Given the description of an element on the screen output the (x, y) to click on. 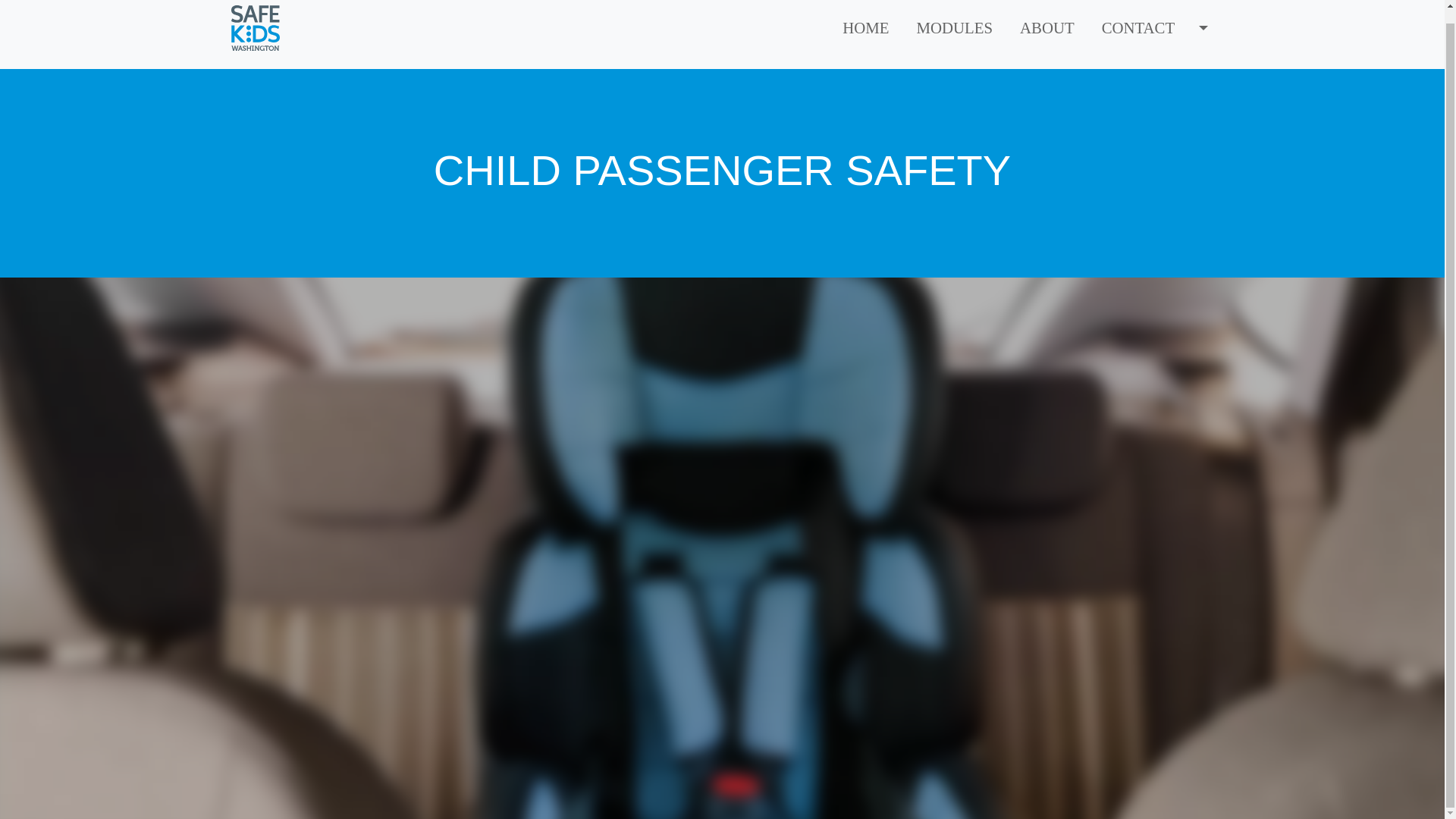
MODULES (954, 27)
Home (261, 27)
HOME (865, 27)
ABOUT (1046, 27)
CONTACT (1138, 27)
